Given the description of an element on the screen output the (x, y) to click on. 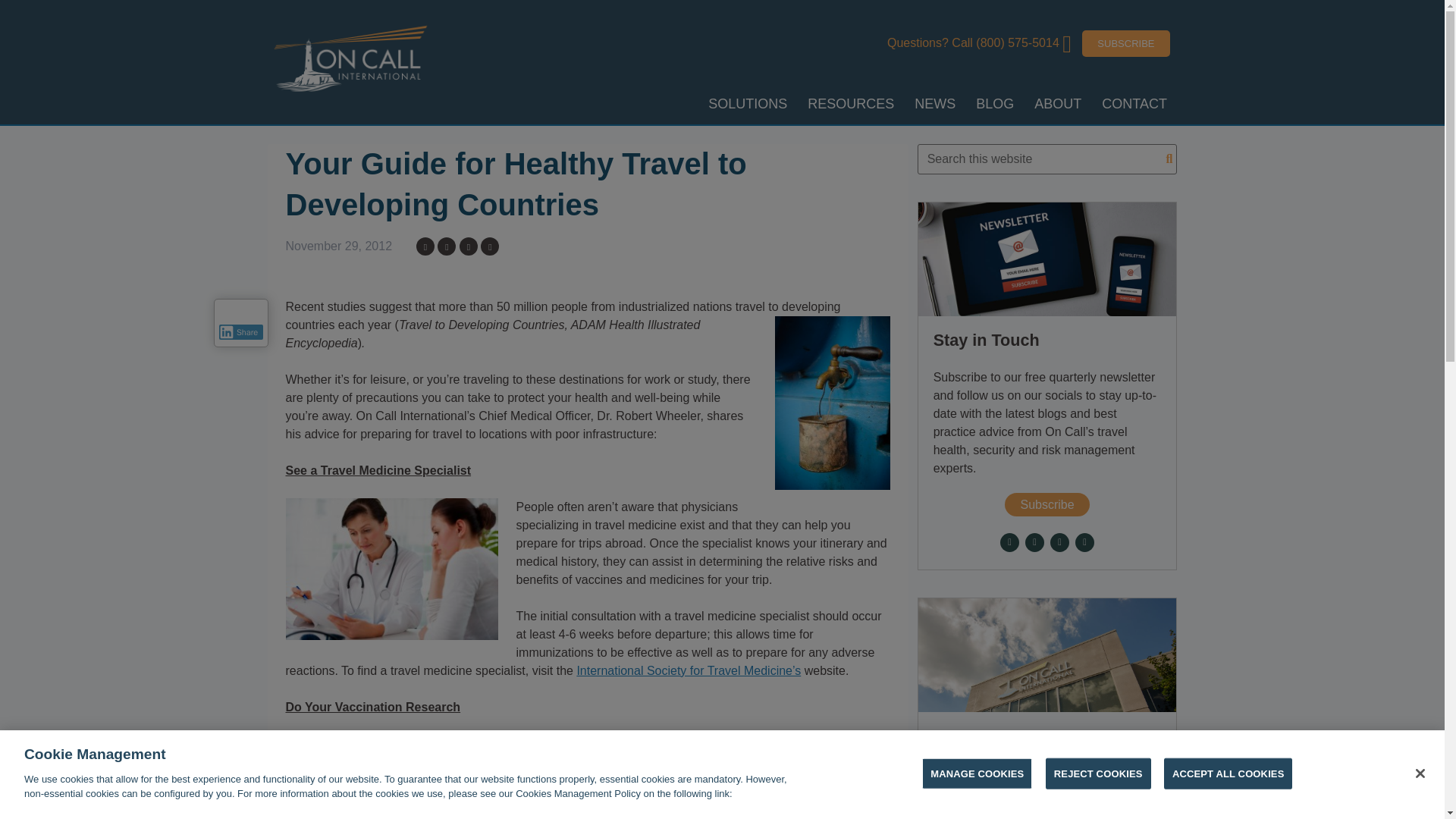
RESOURCES (850, 103)
influenza (532, 761)
Subscribe (1046, 504)
influenza (532, 761)
SUBSCRIBE (1125, 43)
polio (713, 761)
BLOG (995, 103)
SOLUTIONS (747, 103)
ABOUT (1058, 103)
International Society for Travel Medicine's (688, 670)
CONTACT (1134, 103)
polio (713, 761)
NEWS (935, 103)
